Given the description of an element on the screen output the (x, y) to click on. 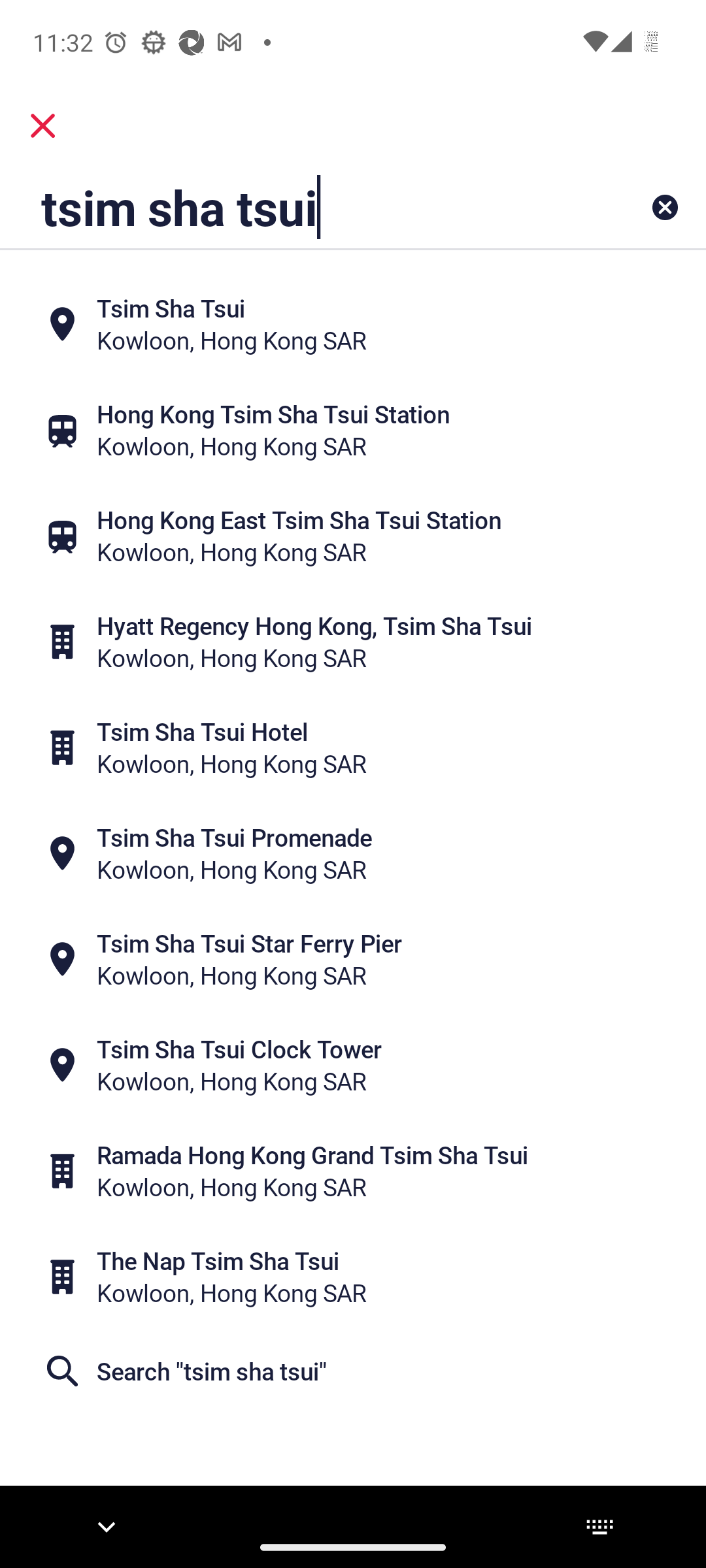
close. (43, 125)
tsim sha tsui (290, 206)
Clear (664, 206)
Tsim Sha Tsui Kowloon, Hong Kong SAR (353, 323)
Tsim Sha Tsui Hotel Kowloon, Hong Kong SAR (353, 746)
Tsim Sha Tsui Promenade Kowloon, Hong Kong SAR (353, 852)
Tsim Sha Tsui Clock Tower Kowloon, Hong Kong SAR (353, 1064)
The Nap Tsim Sha Tsui Kowloon, Hong Kong SAR (353, 1276)
Search "tsim sha tsui" (353, 1370)
